Given the description of an element on the screen output the (x, y) to click on. 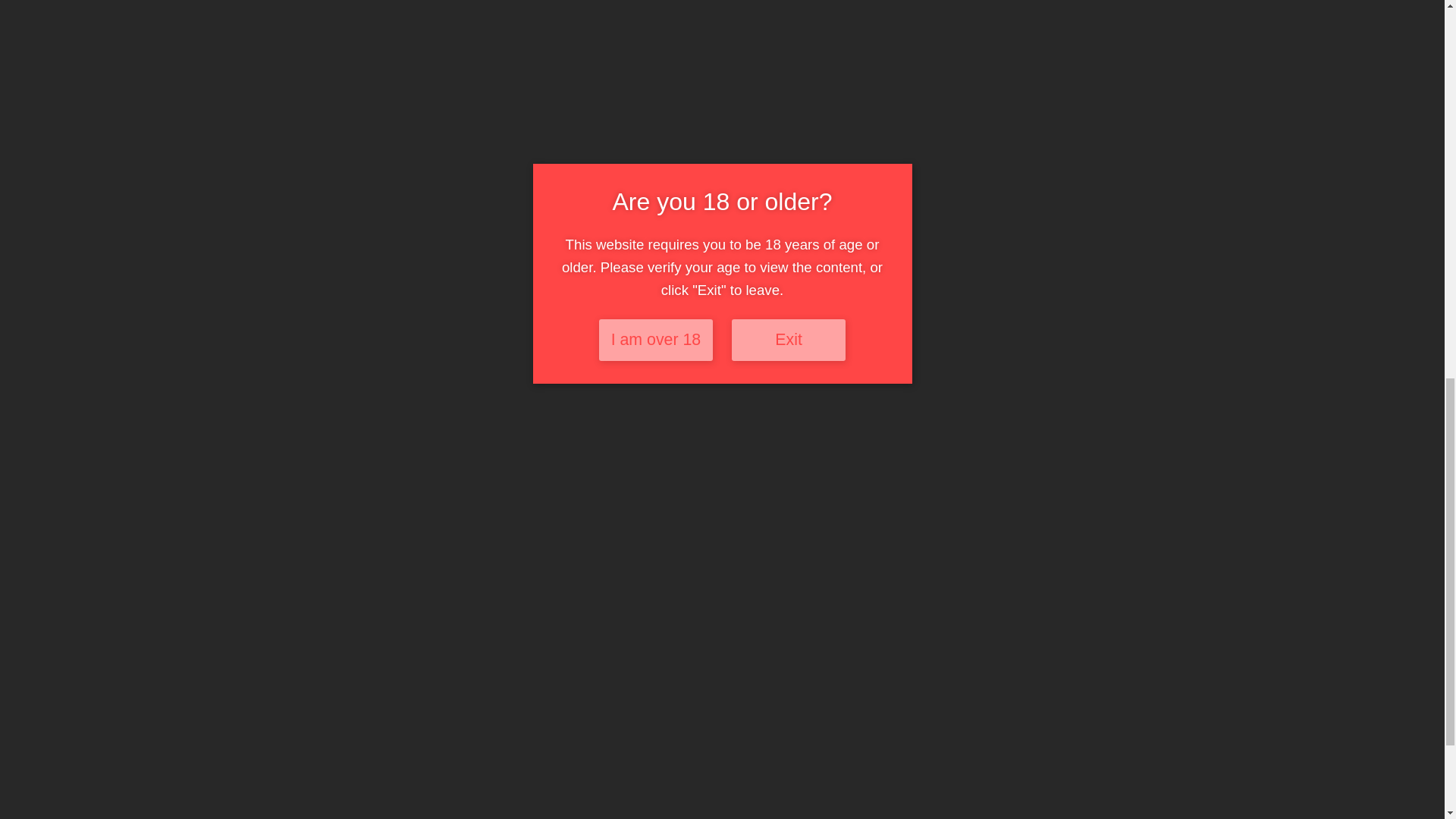
slots-cherry-pop-yggdrasil-gaming-logo (807, 400)
CazinoCosmos (1037, 507)
vikings go to hell (570, 551)
Kazino zeppelin (804, 507)
vikings-go-berzerklogo (575, 402)
